Given the description of an element on the screen output the (x, y) to click on. 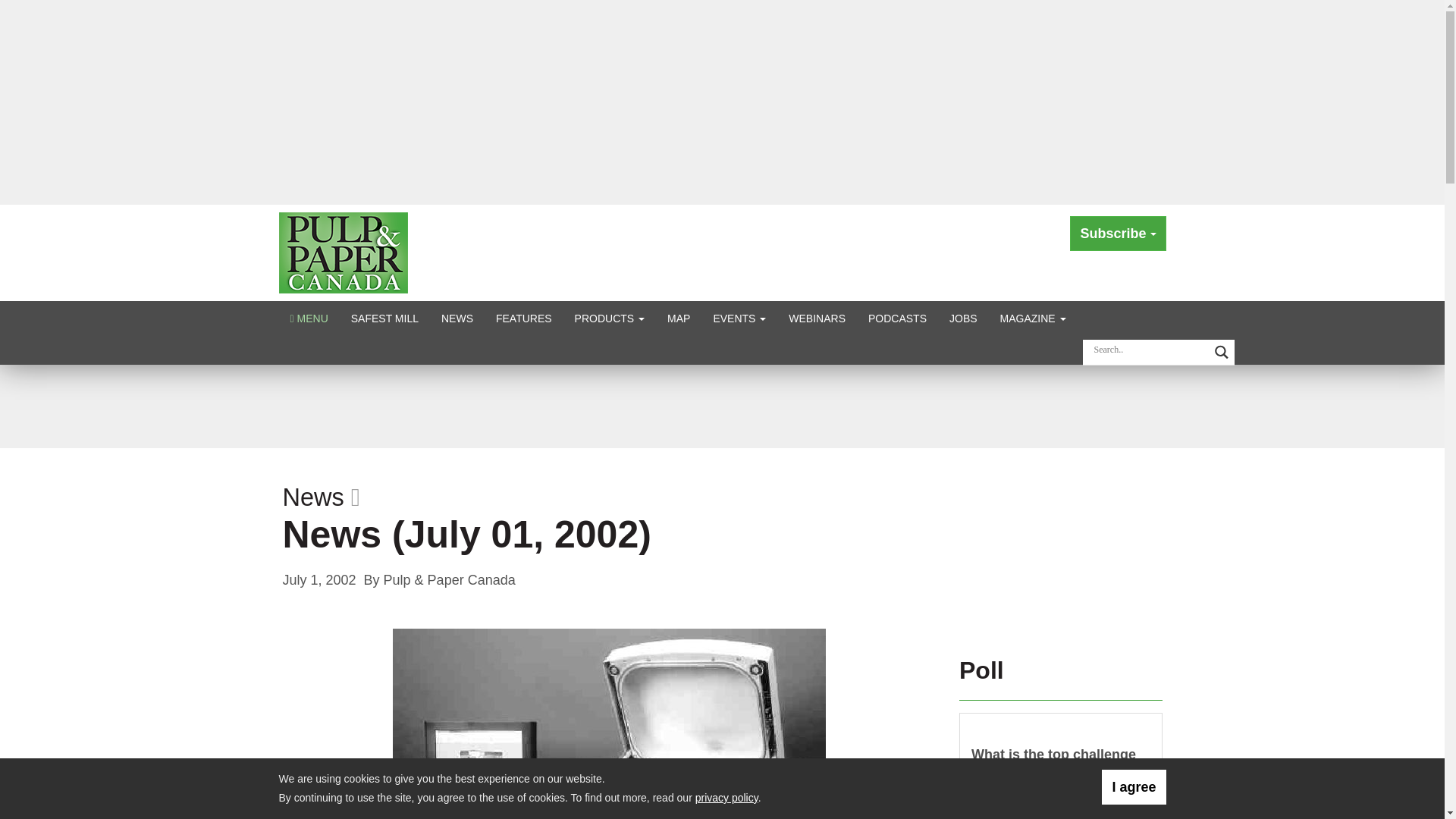
Pulp and Paper Canada (343, 251)
FEATURES (523, 317)
NEWS (456, 317)
Subscribe (1118, 233)
3rd party ad content (721, 405)
Click to show site navigation (309, 317)
WEBINARS (817, 317)
MAP (678, 317)
MENU (309, 317)
MAGAZINE (1032, 317)
PODCASTS (897, 317)
JOBS (962, 317)
PRODUCTS (609, 317)
EVENTS (739, 317)
